Given the description of an element on the screen output the (x, y) to click on. 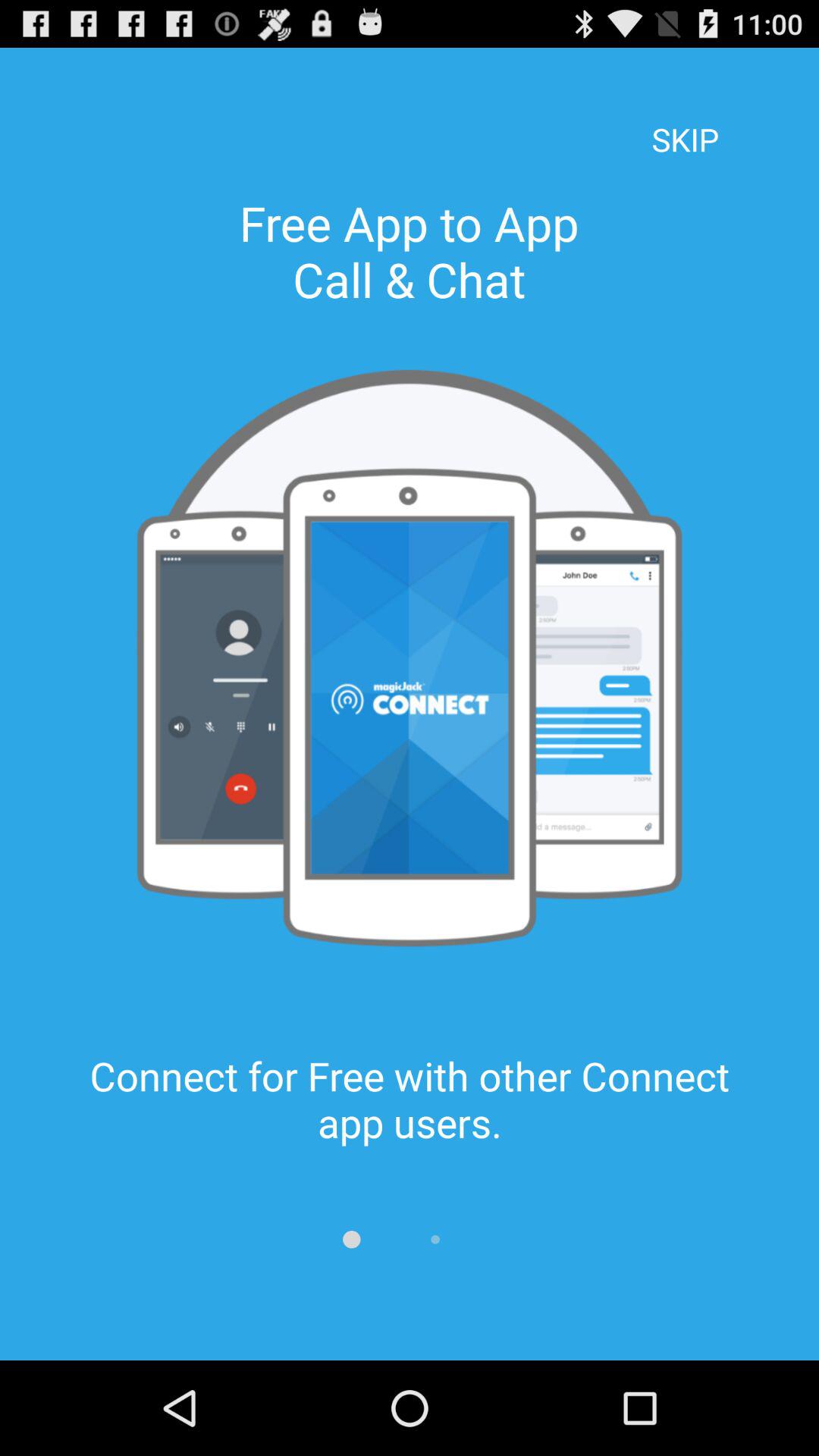
swipe to another page (351, 1239)
